Given the description of an element on the screen output the (x, y) to click on. 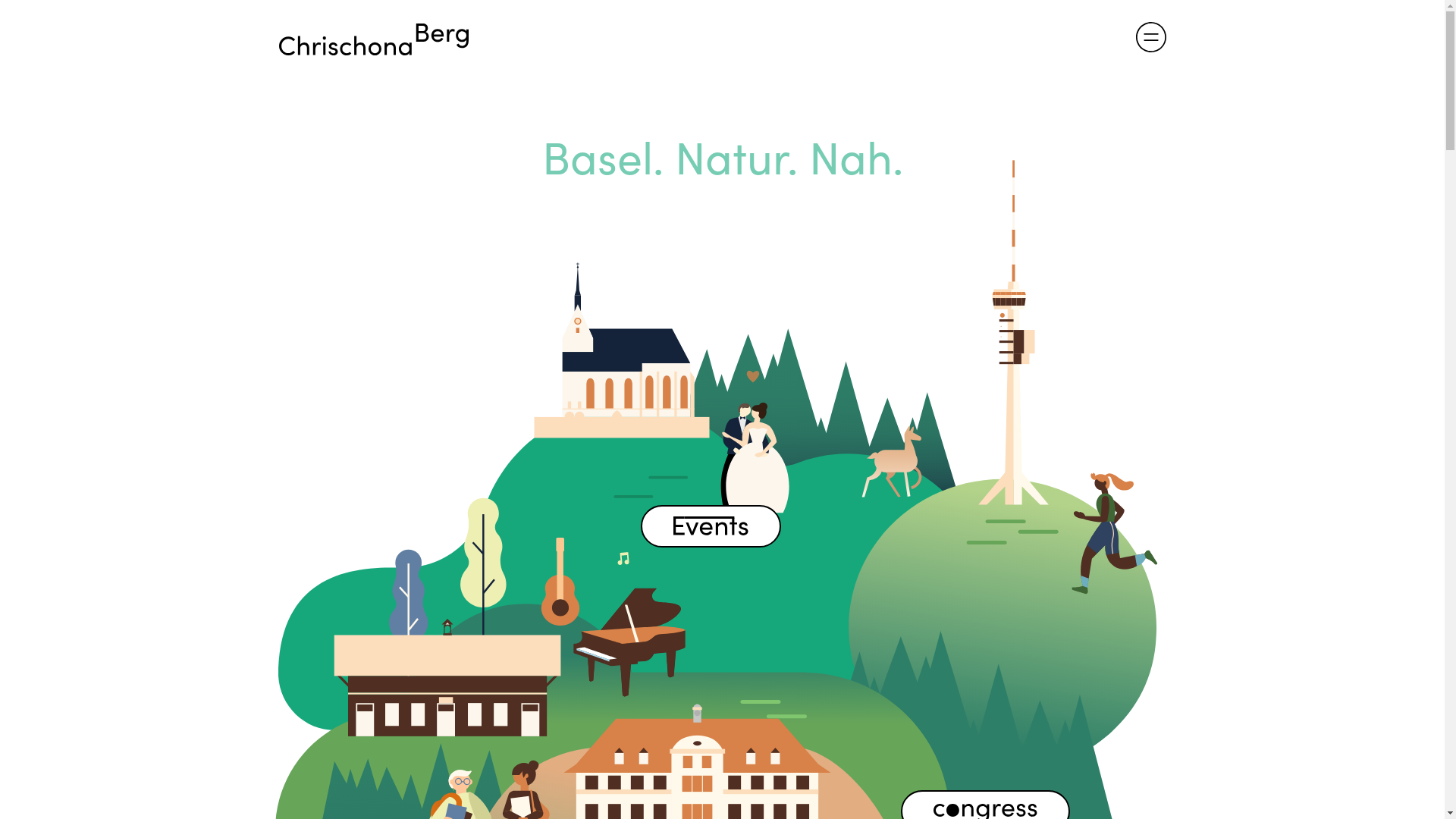
menu-icon-03 Element type: hover (1150, 36)
